Given the description of an element on the screen output the (x, y) to click on. 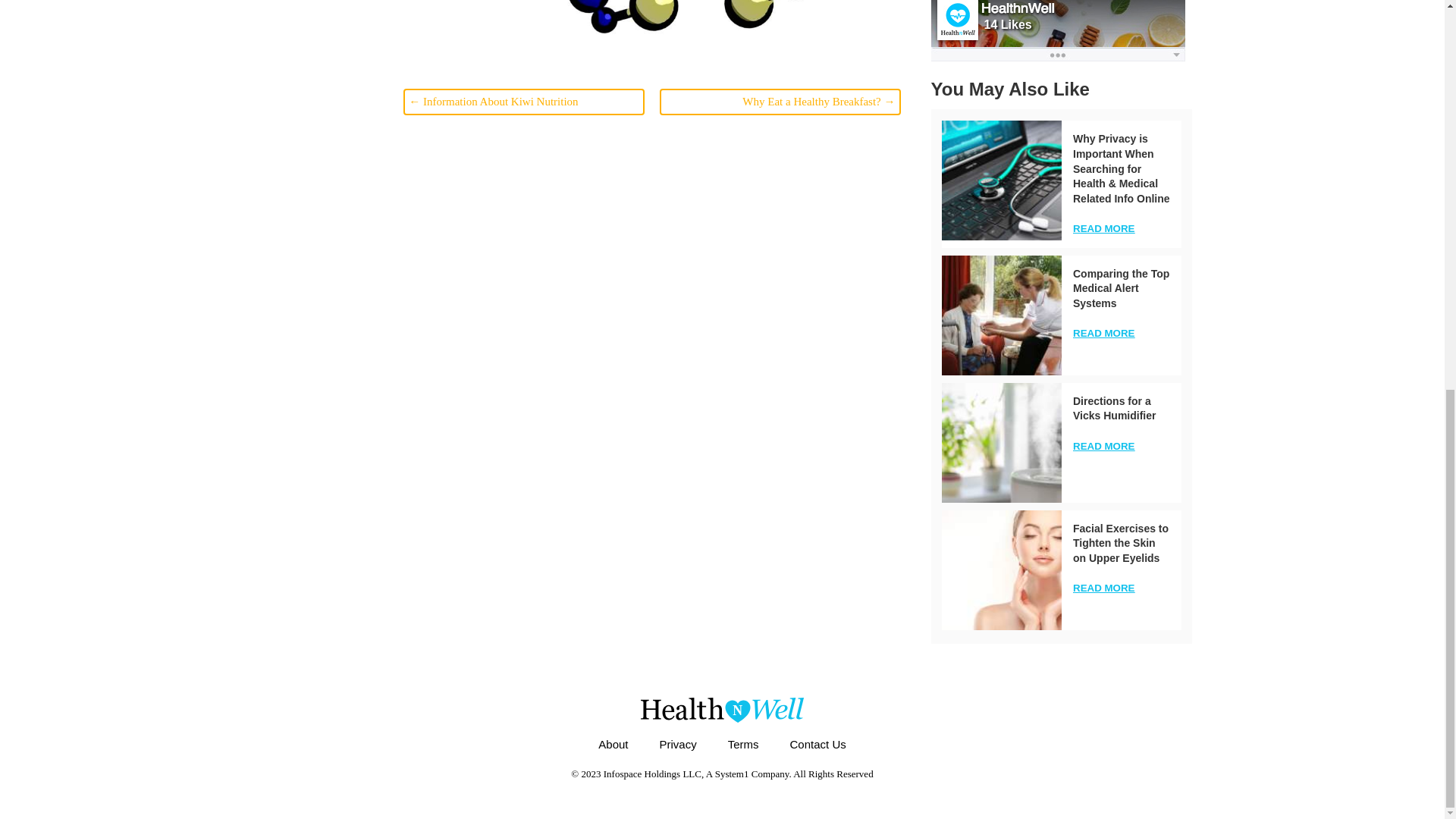
Reducing Monosaccharides (659, 28)
Directions for a Vicks Humidifier (1114, 408)
Comparing the Top Medical Alert Systems (1121, 288)
Comparing the Top Medical Alert Systems (1121, 288)
Comparing the Top Medical Alert Systems (1001, 315)
Directions for a Vicks Humidifier (1001, 442)
READ MORE (1103, 333)
READ MORE (1103, 228)
